Given the description of an element on the screen output the (x, y) to click on. 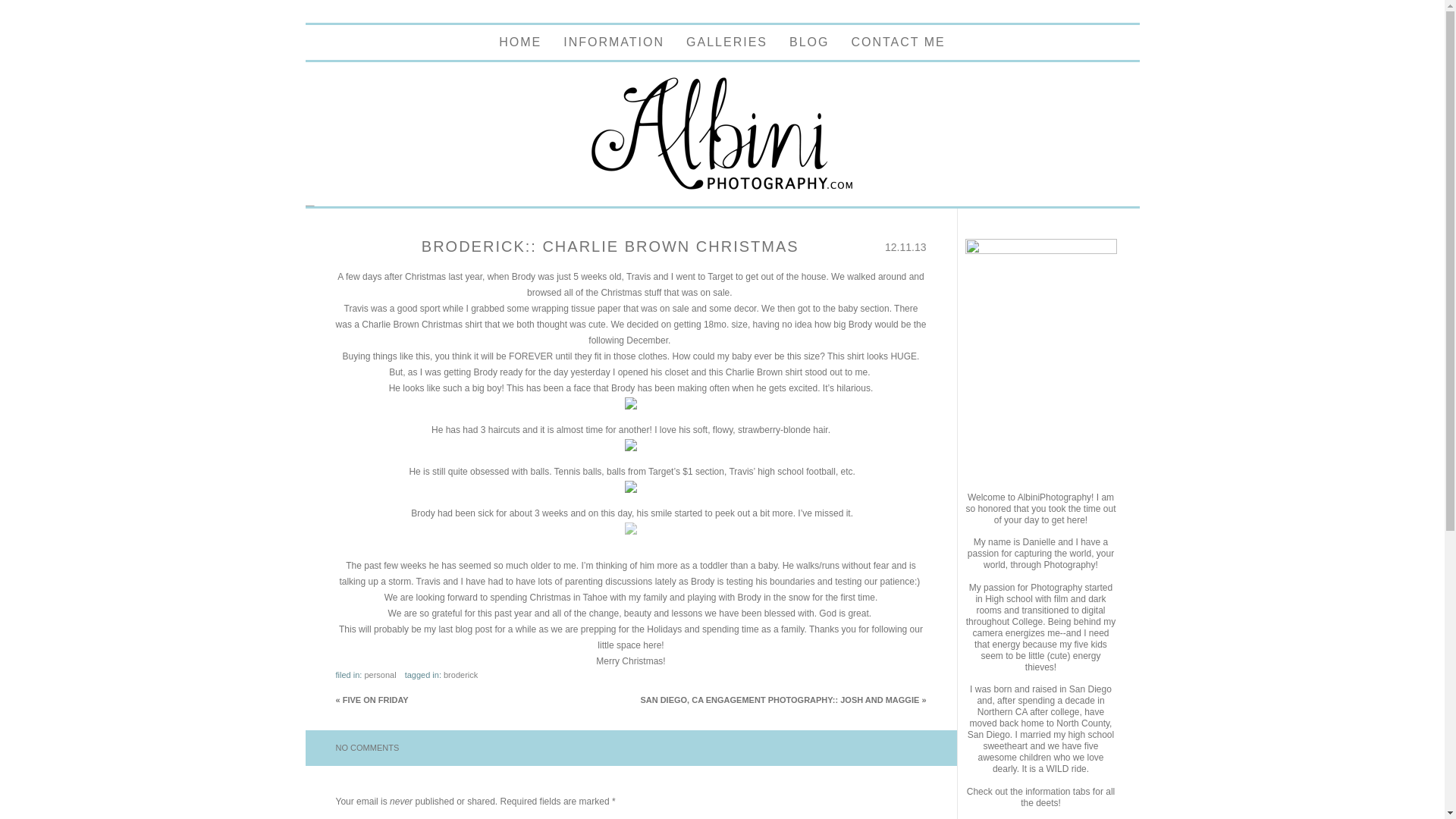
BLOG (808, 42)
Cancel Reply (35, 7)
CONTACT ME (897, 42)
Albini Photography (520, 42)
GALLERIES (726, 42)
HOME (520, 42)
Albini Photography (722, 188)
NO COMMENTS (366, 748)
personal (380, 674)
broderick (460, 674)
INFORMATION (613, 42)
